Given the description of an element on the screen output the (x, y) to click on. 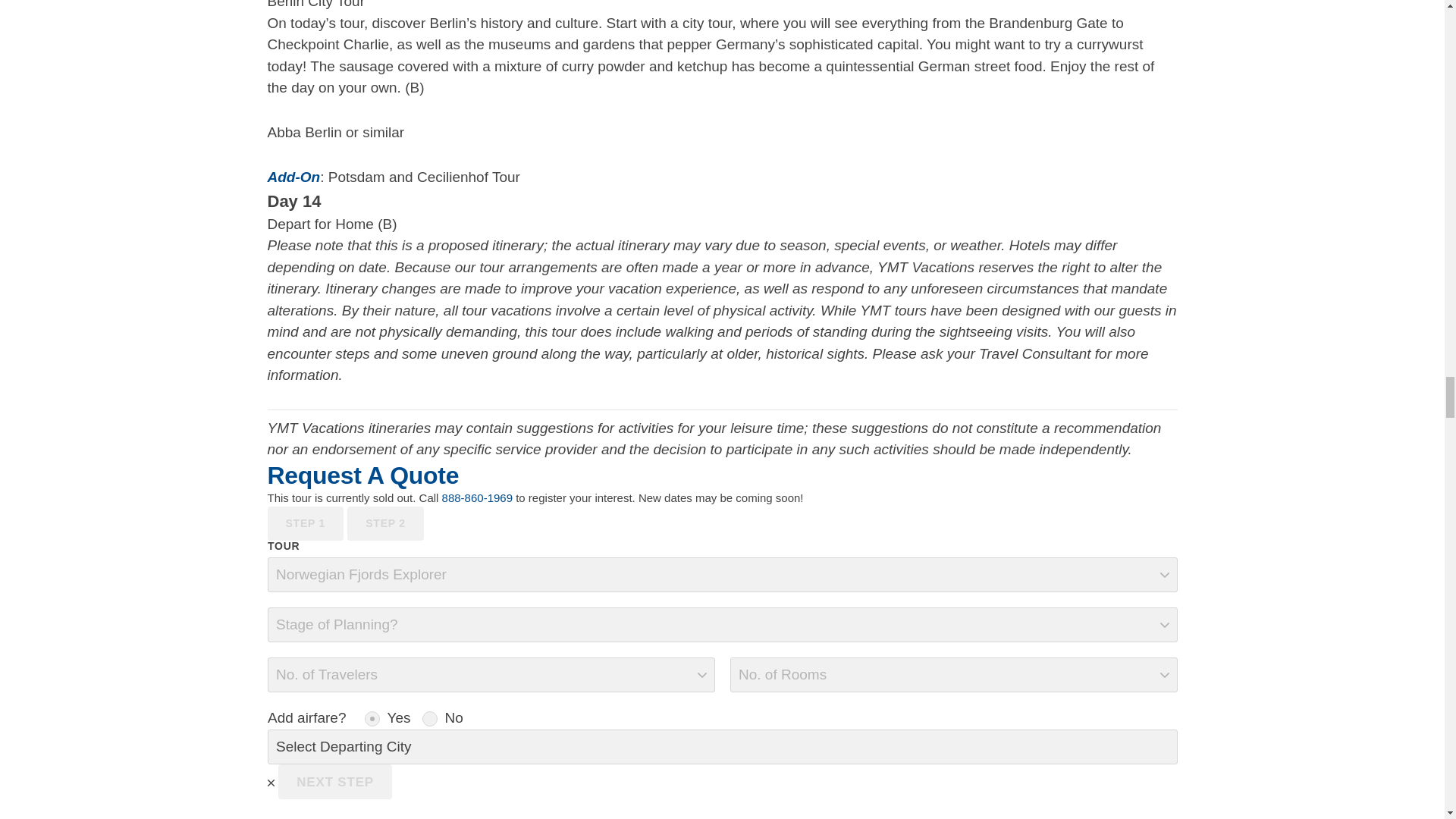
Yes (371, 718)
No (429, 718)
